Given the description of an element on the screen output the (x, y) to click on. 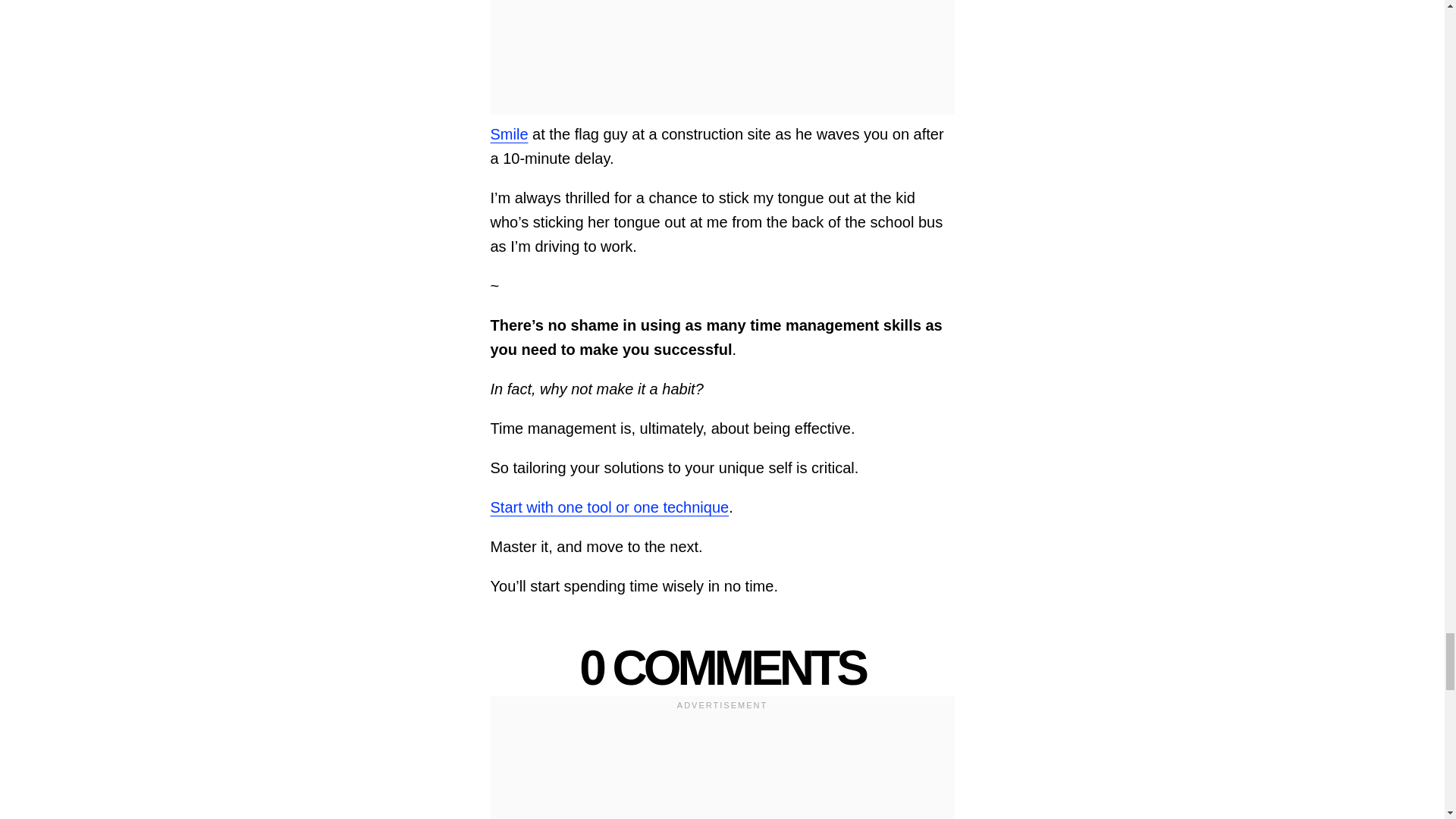
Smile (508, 134)
Smile (508, 134)
Start with one tool or one technique (609, 506)
